Given the description of an element on the screen output the (x, y) to click on. 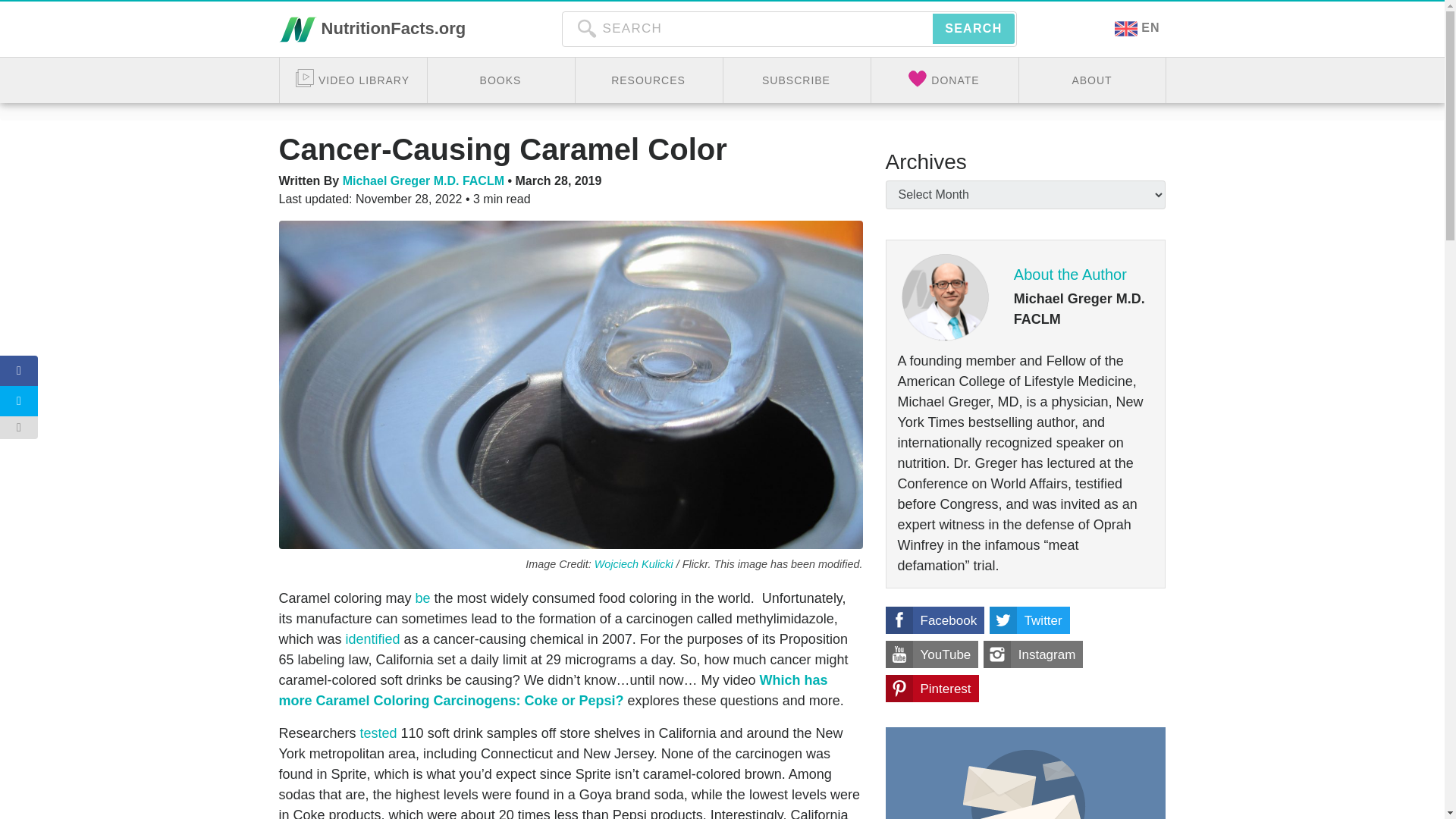
EN (1137, 28)
VIDEO LIBRARY (352, 80)
NutritionFacts.org (372, 29)
Books (500, 80)
SUBSCRIBE (796, 80)
BOOKS (500, 80)
NutritionFacts.org (372, 29)
SEARCH (972, 28)
Video Library (352, 80)
RESOURCES (647, 80)
Resources (647, 80)
